Given the description of an element on the screen output the (x, y) to click on. 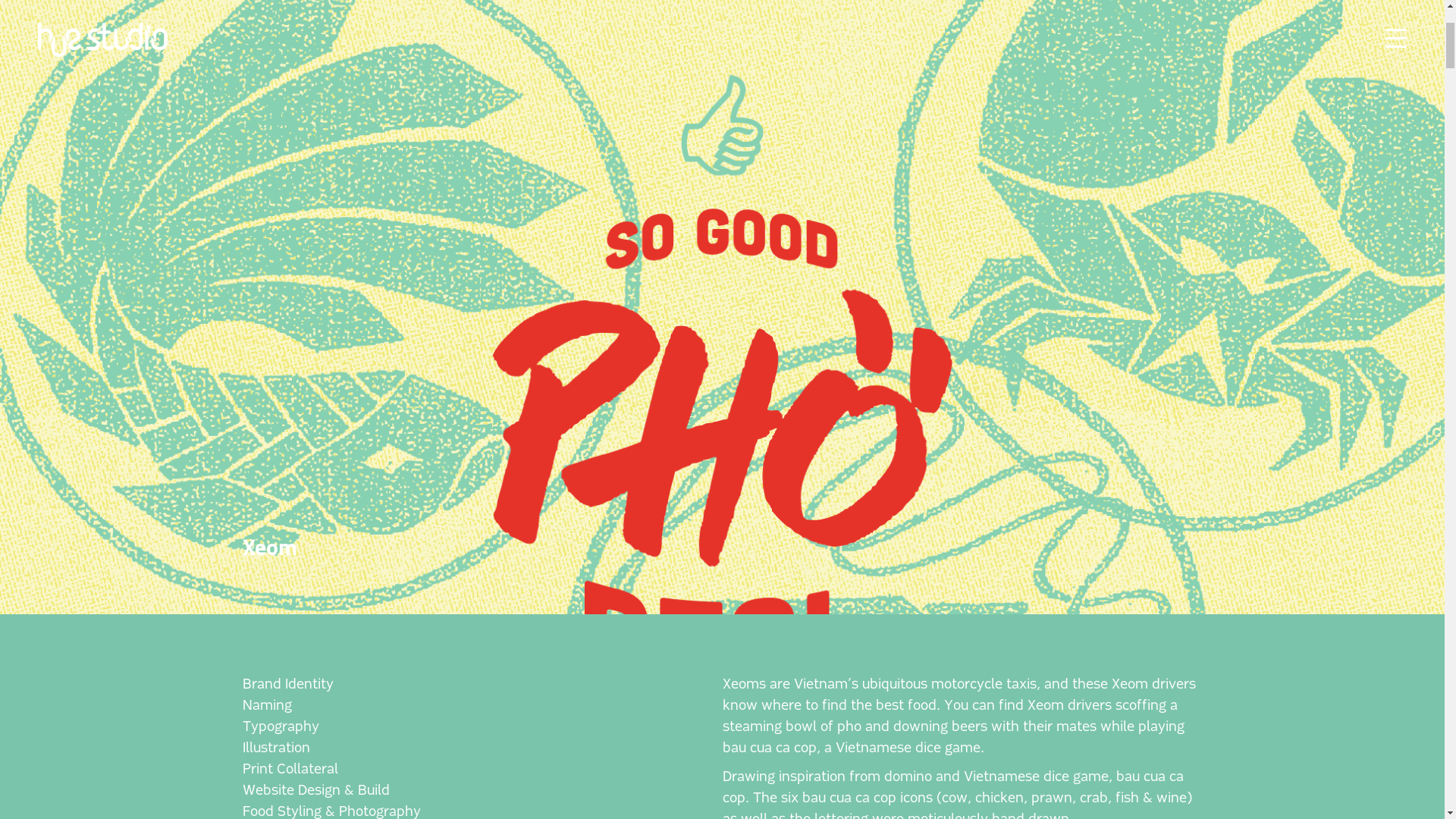
Instagram Element type: text (753, 664)
+61 412 868 996 Element type: text (773, 600)
Facebook Element type: text (751, 685)
Next Project Element type: text (637, 622)
Previous Project Element type: text (637, 600)
Selected Work Element type: text (598, 643)
hi@huestudio.com.au Element type: text (788, 622)
